Given the description of an element on the screen output the (x, y) to click on. 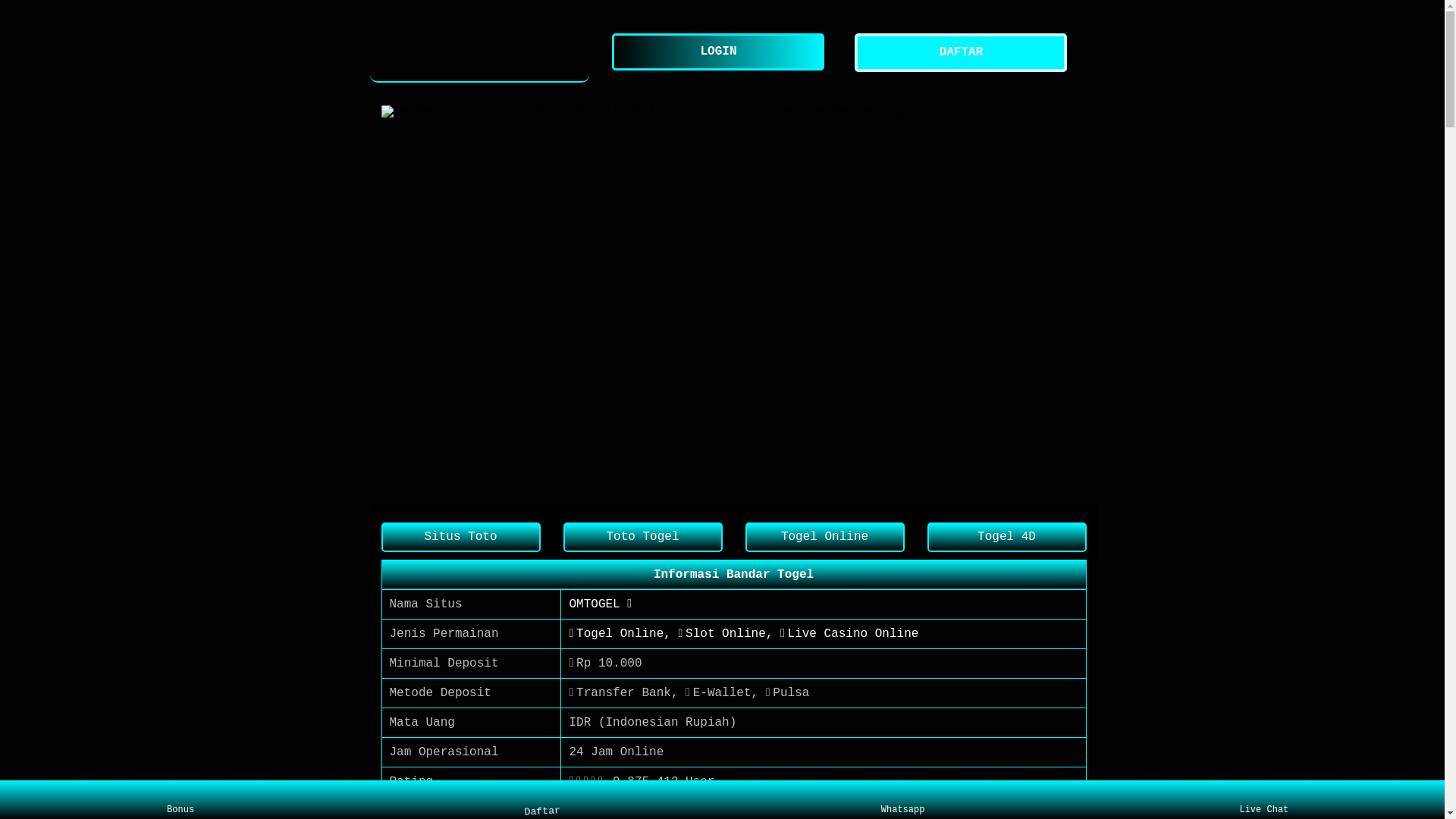
KLIK DISINI Element type: text (608, 811)
Situs Toto Element type: text (459, 537)
Togel 4D Element type: text (1005, 537)
Next item in carousel (1 of 1) Element type: hover (1073, 303)
Previous item in carousel (1 of 1) Element type: hover (392, 303)
LOGIN Element type: text (721, 51)
Live Chat Element type: text (1263, 799)
Bonus Element type: text (180, 799)
Toto Togel Element type: text (641, 537)
Daftar Element type: text (543, 799)
Whatsapp Element type: text (902, 799)
DAFTAR Element type: text (964, 52)
Togel Online Element type: text (823, 537)
OMTOGEL Element type: hover (479, 52)
